Given the description of an element on the screen output the (x, y) to click on. 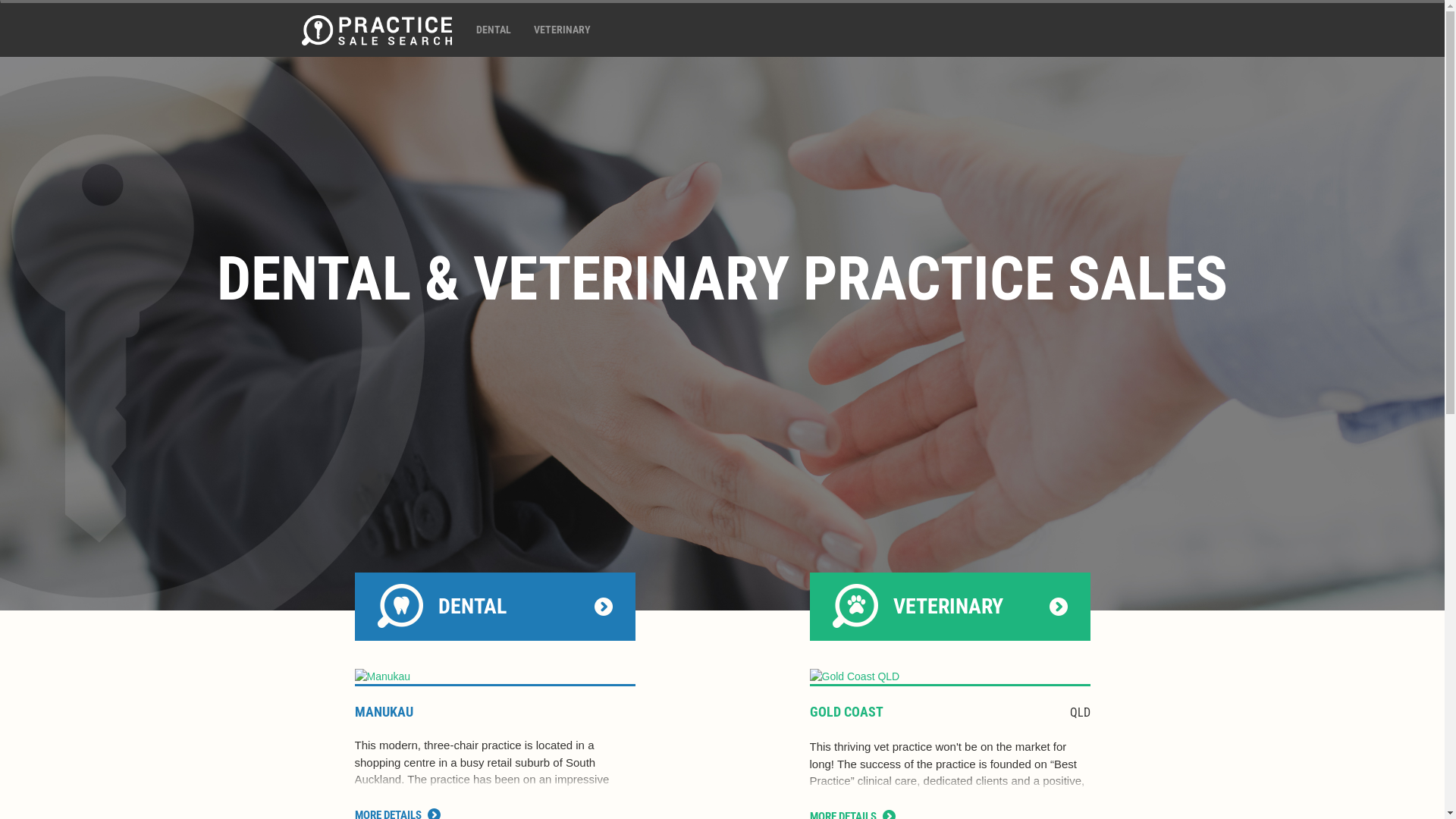
VETERINARY Element type: text (561, 29)
GOLD COAST Element type: text (846, 711)
VETERINARY Element type: text (949, 606)
DENTAL Element type: text (492, 29)
MANUKAU Element type: text (383, 711)
DENTAL Element type: text (494, 606)
